Given the description of an element on the screen output the (x, y) to click on. 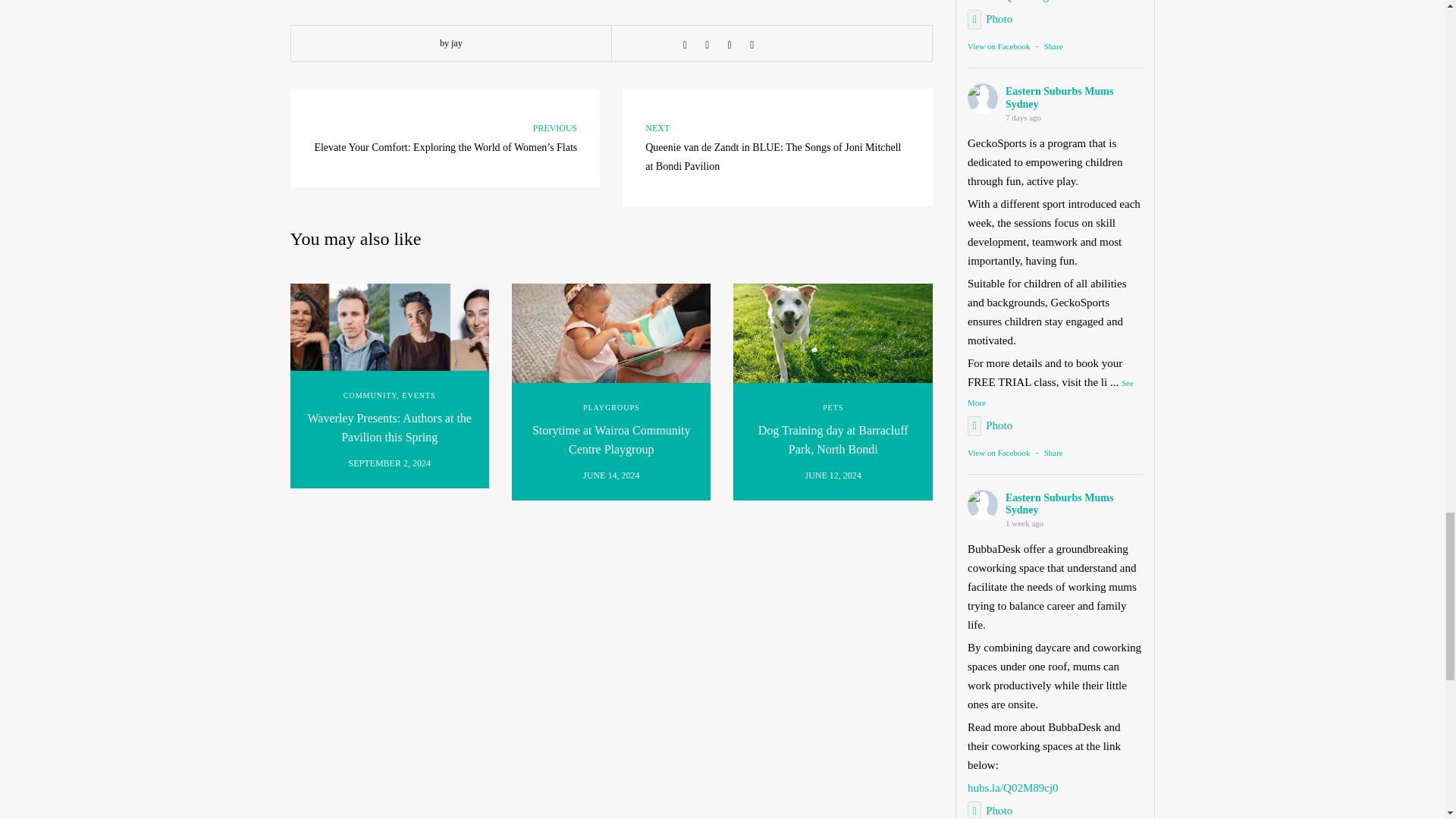
Share this (684, 44)
View on Facebook (998, 45)
Tweet this (707, 44)
Pin this (751, 44)
Share with Google Plus (729, 44)
Share (1052, 45)
